Given the description of an element on the screen output the (x, y) to click on. 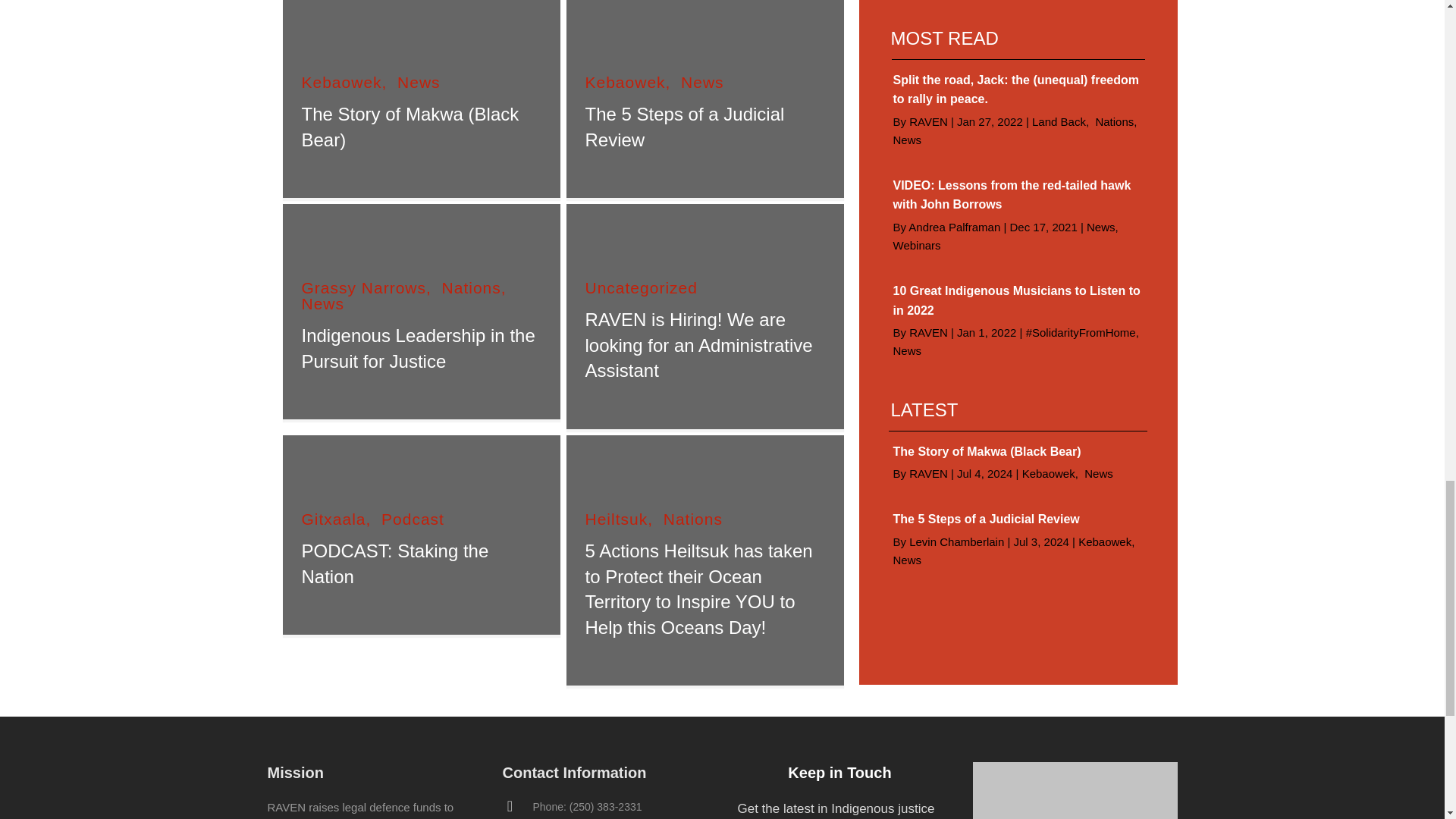
The 5 Steps of a Judicial Review (684, 126)
Indigenous Leadership in the Pursuit for Justice (418, 348)
